Given the description of an element on the screen output the (x, y) to click on. 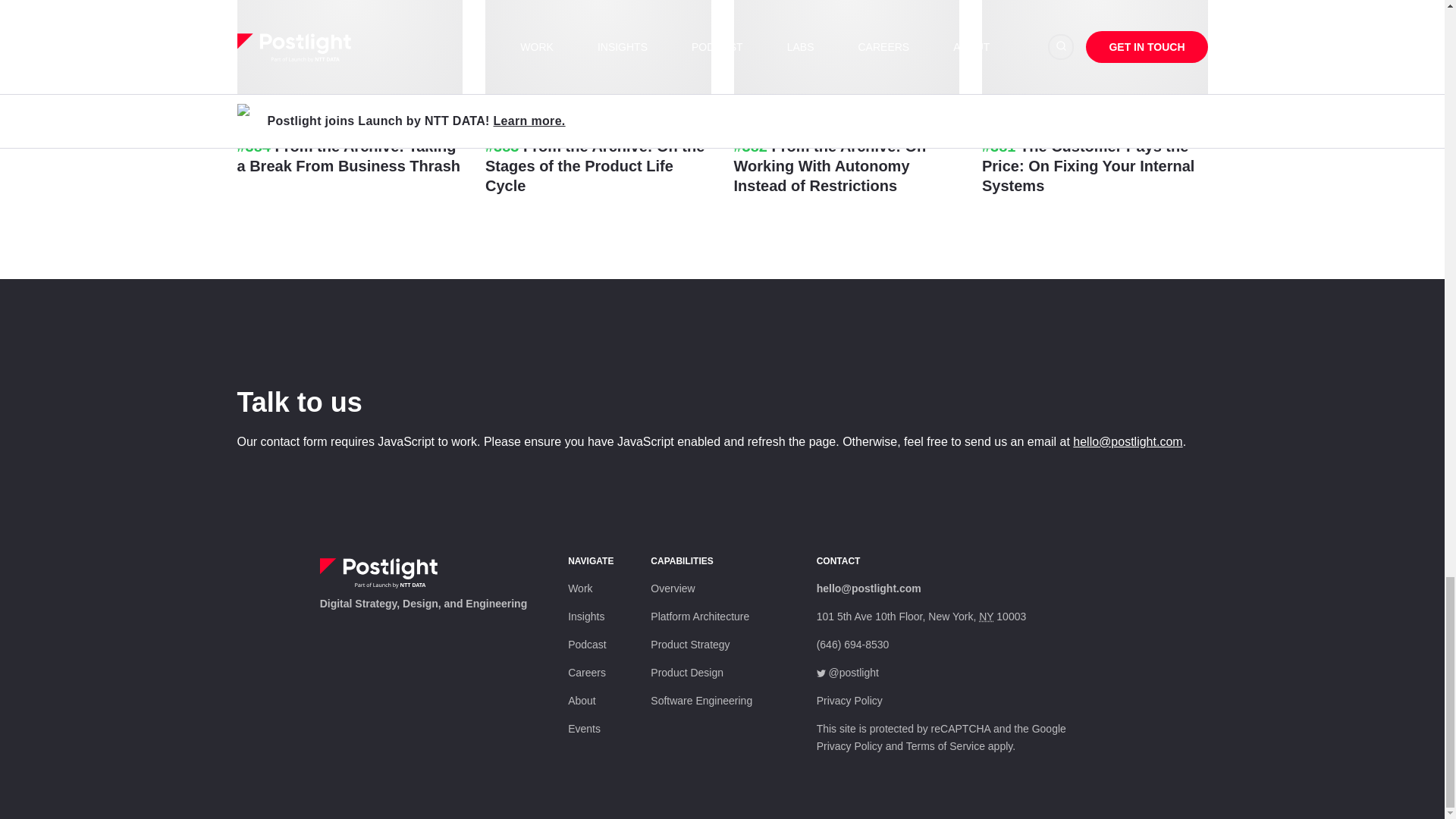
Careers (586, 672)
New York (985, 616)
Podcast (587, 644)
Work (579, 588)
Insights (585, 616)
